Given the description of an element on the screen output the (x, y) to click on. 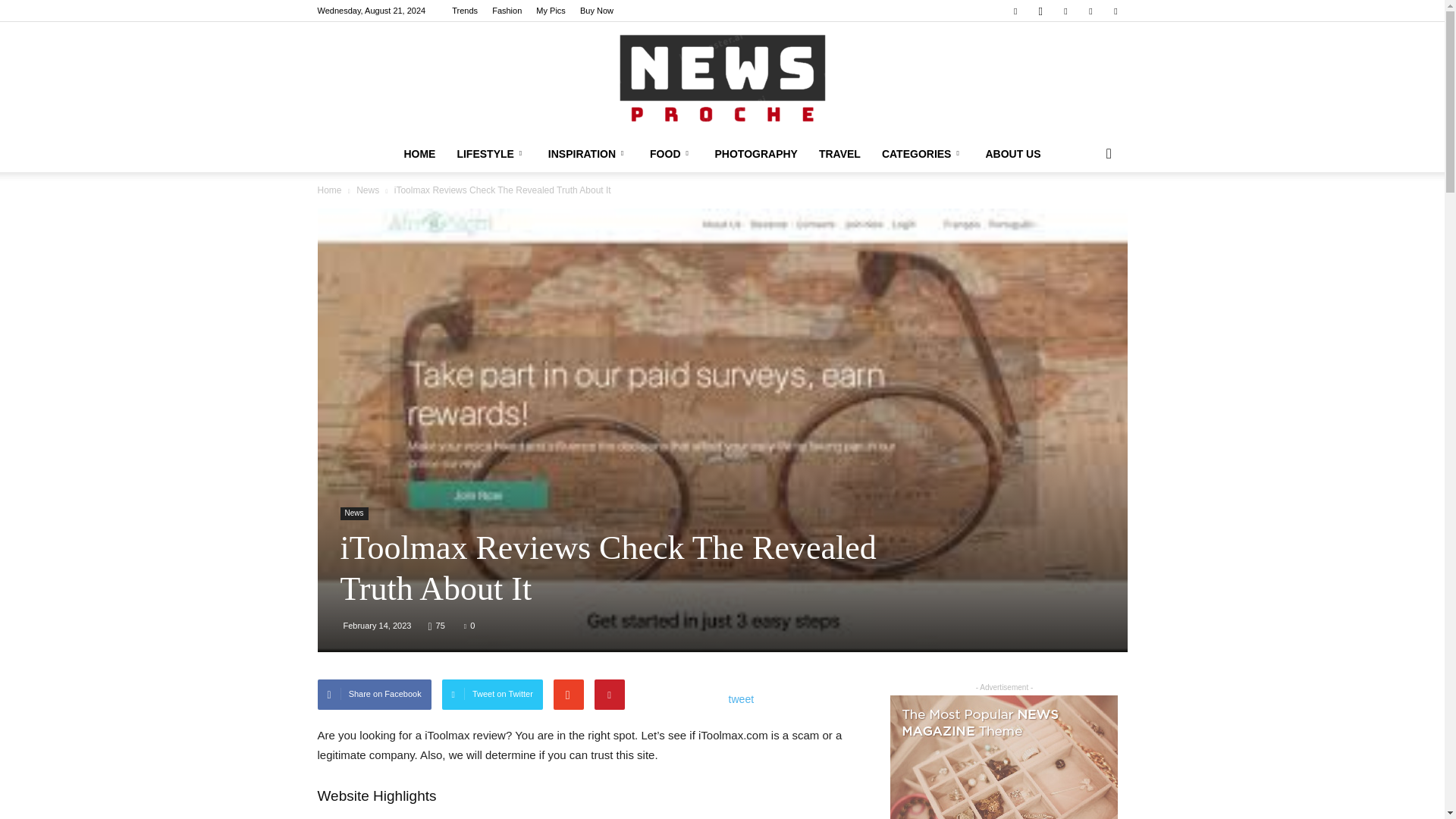
My Pics (550, 10)
Tumblr (1090, 10)
Twitter (1114, 10)
LIFESTYLE (491, 153)
Buy Now (595, 10)
Facebook (1015, 10)
Trends (464, 10)
HOME (419, 153)
Instagram (1040, 10)
Pinterest (1065, 10)
